Given the description of an element on the screen output the (x, y) to click on. 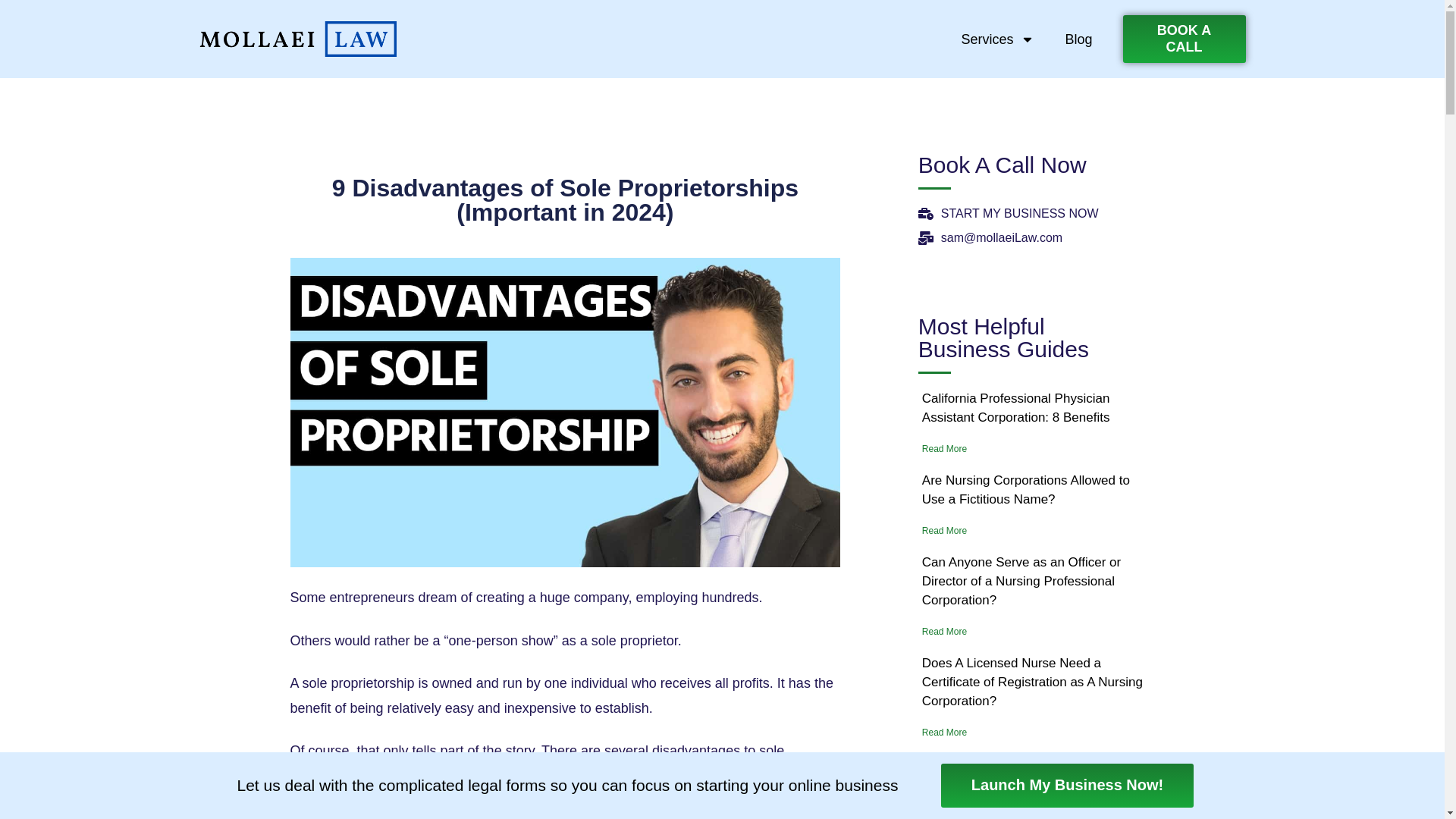
Are Nursing Corporations Allowed to Use a Fictitious Name? (1025, 489)
Blog (1077, 39)
START MY BUSINESS NOW (1027, 213)
Read More (1032, 530)
